Given the description of an element on the screen output the (x, y) to click on. 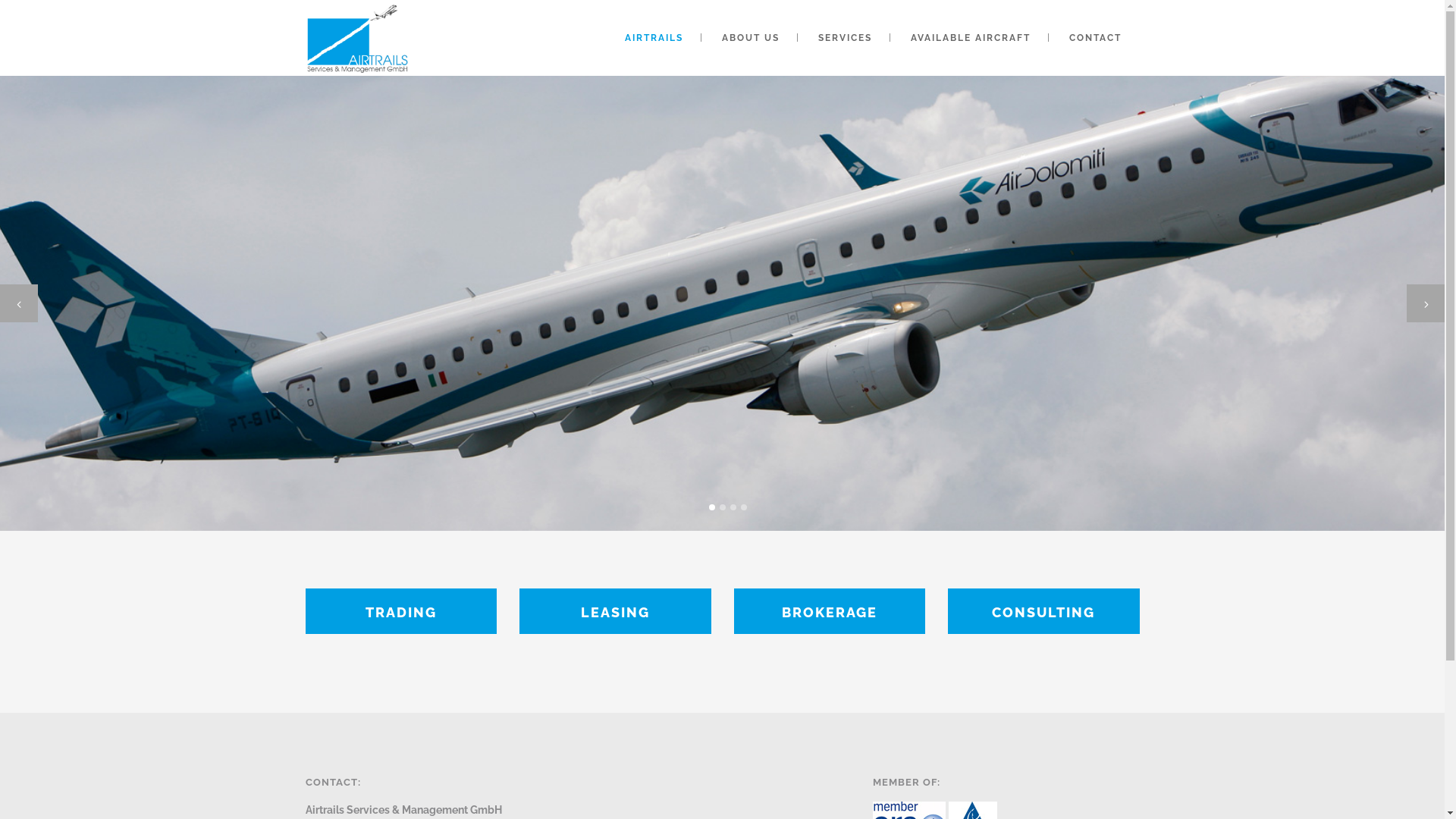
CONSULTING Element type: text (1043, 610)
CONTACT Element type: text (1095, 37)
ABOUT US Element type: text (750, 37)
AVAILABLE AIRCRAFT Element type: text (969, 37)
SERVICES Element type: text (844, 37)
LEASING Element type: text (615, 610)
TRADING Element type: text (400, 610)
AIRTRAILS Element type: text (653, 37)
BROKERAGE Element type: text (829, 610)
